Given the description of an element on the screen output the (x, y) to click on. 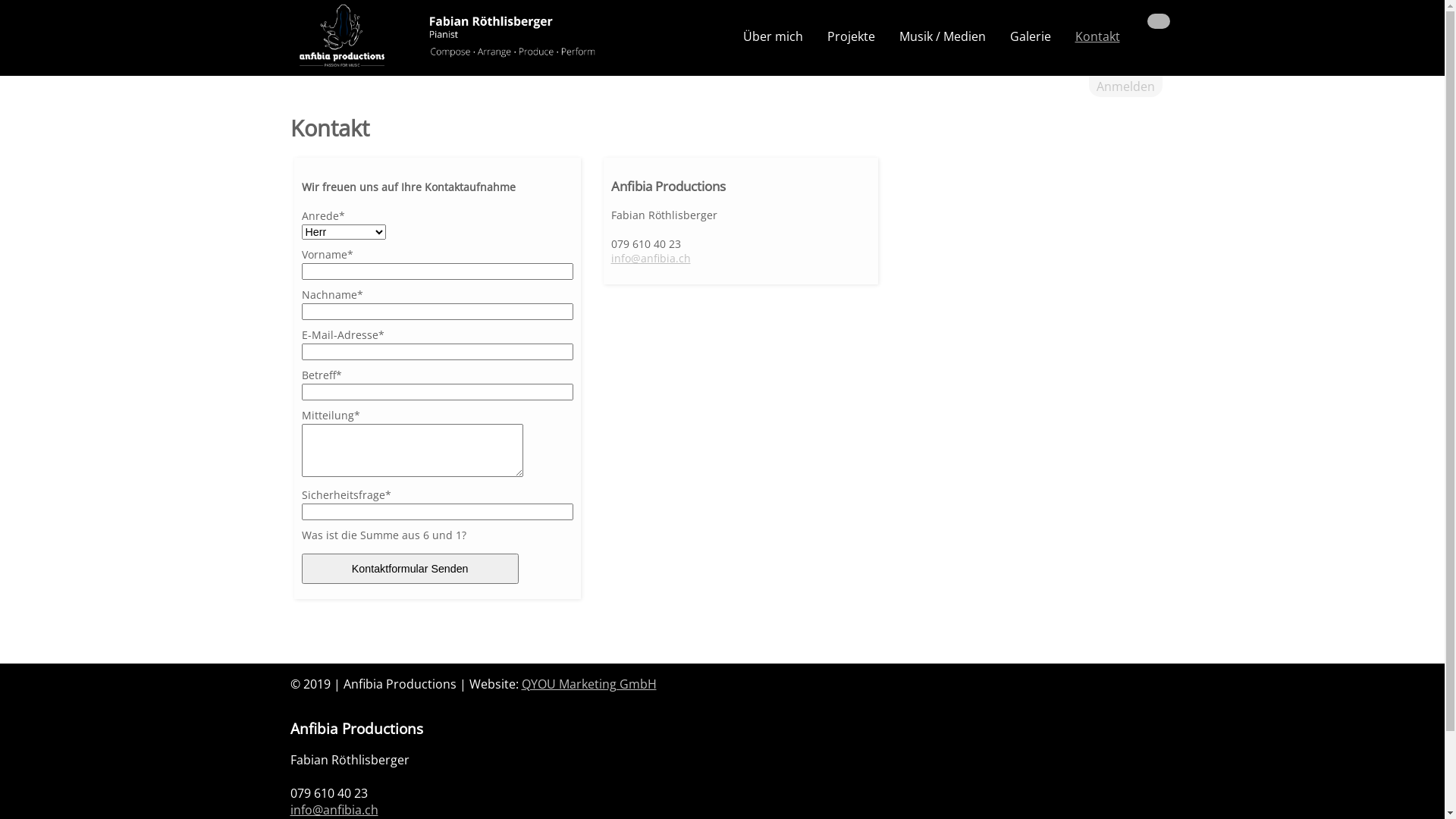
Galerie Element type: text (1030, 35)
QYOU Marketing GmbH Element type: text (588, 683)
info@anfibia.ch Element type: text (333, 809)
Projekte Element type: text (850, 35)
  Element type: text (1131, 18)
Kontaktformular Senden Element type: text (409, 568)
Anmelden Element type: text (1125, 86)
info@anfibia.ch Element type: text (650, 258)
Musik / Medien Element type: text (942, 35)
